Given the description of an element on the screen output the (x, y) to click on. 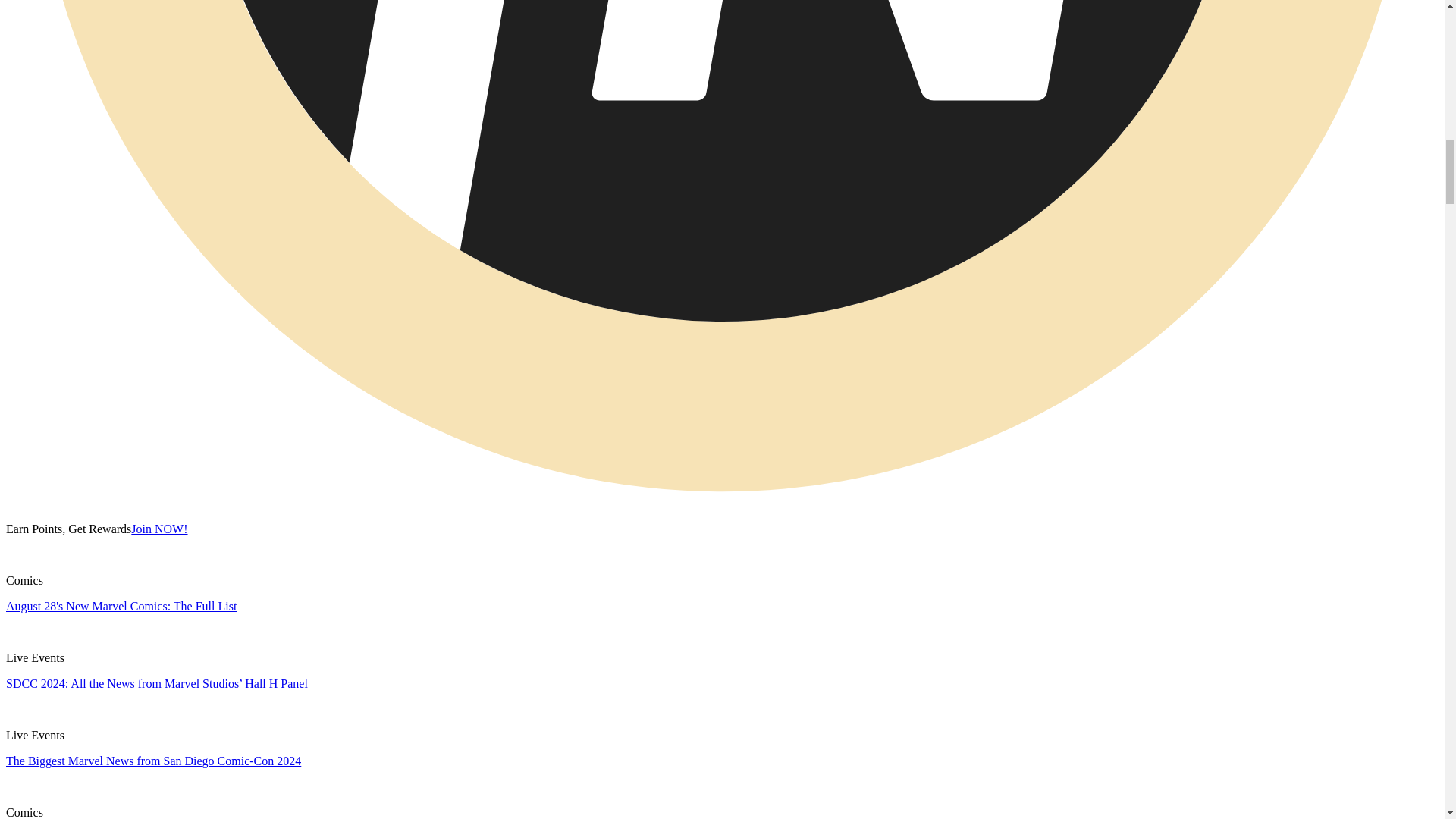
August 28's New Marvel Comics: The Full List (120, 605)
Join NOW! (159, 528)
The Biggest Marvel News from San Diego Comic-Con 2024 (153, 760)
